Given the description of an element on the screen output the (x, y) to click on. 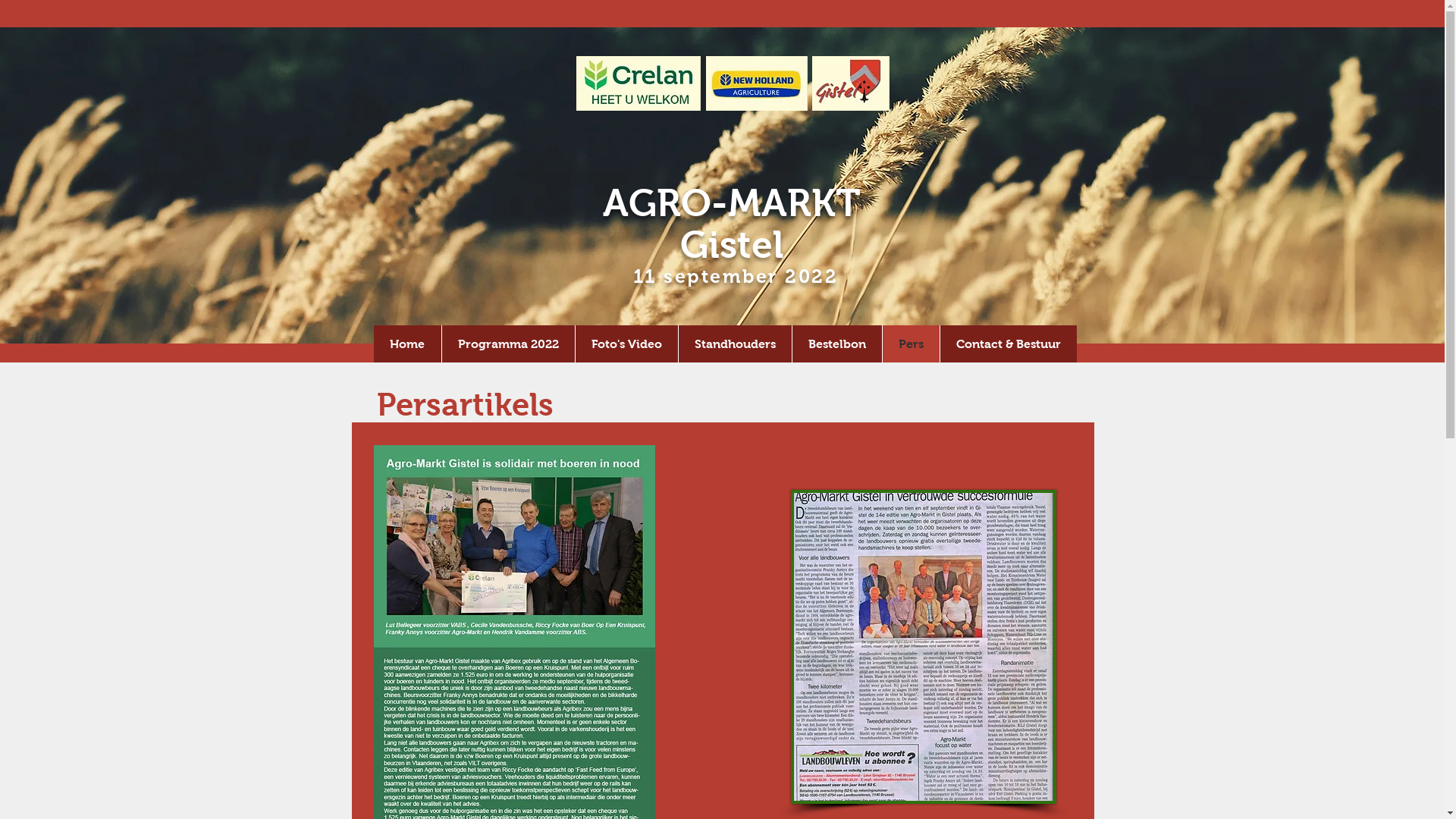
crelan 2.jpg Element type: hover (638, 83)
Standhouders Element type: text (734, 343)
actueel.jpg Element type: hover (922, 646)
Contact & Bestuur Element type: text (1007, 343)
Foto's Video Element type: text (625, 343)
Home Element type: text (406, 343)
Programma 2022 Element type: text (507, 343)
Pers Element type: text (909, 343)
Bestelbon Element type: text (836, 343)
